Given the description of an element on the screen output the (x, y) to click on. 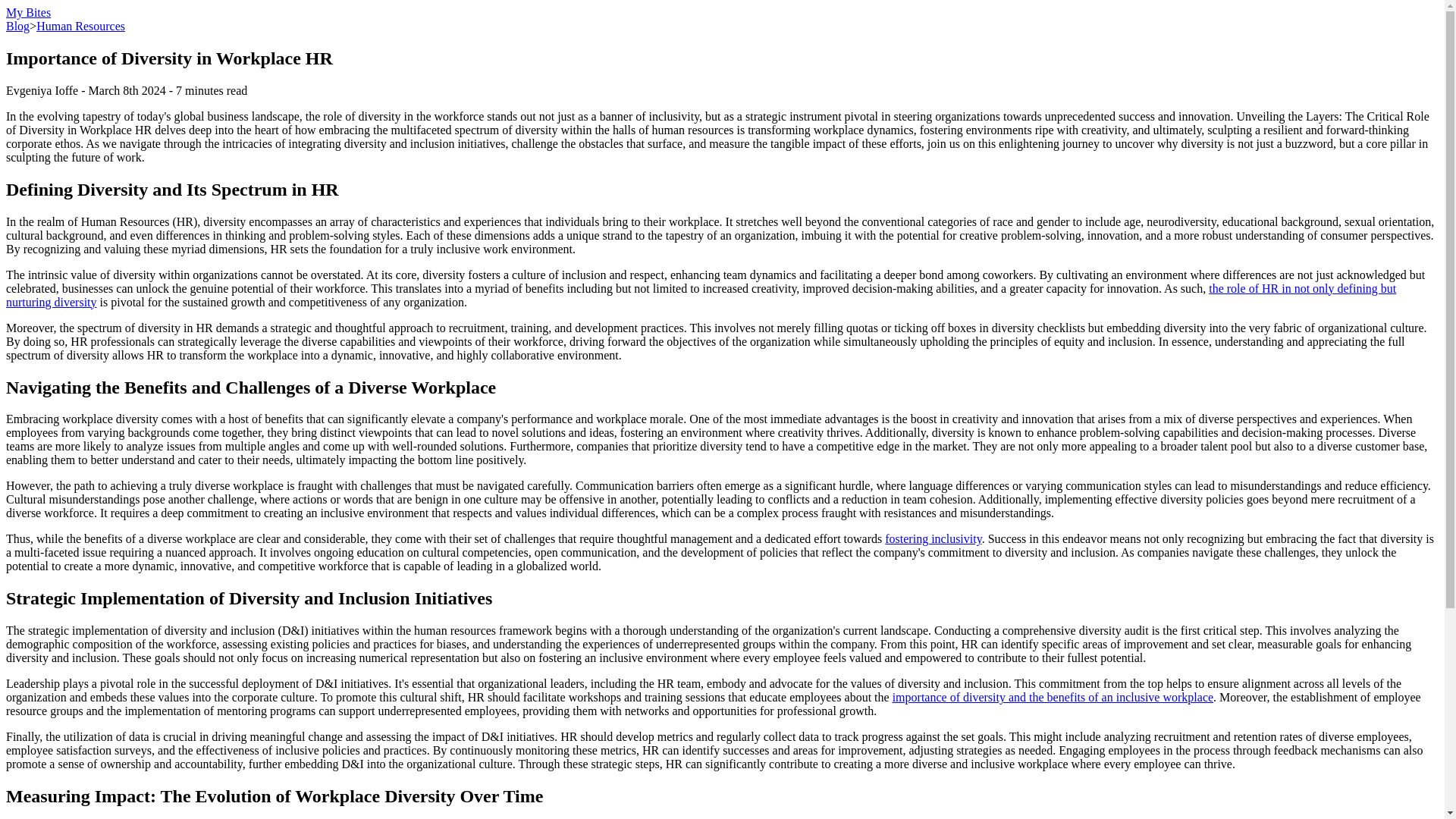
My Bites (27, 11)
Blog (17, 25)
Human Resources (80, 25)
fostering inclusivity (933, 538)
the role of HR in not only defining but nurturing diversity (700, 294)
